Given the description of an element on the screen output the (x, y) to click on. 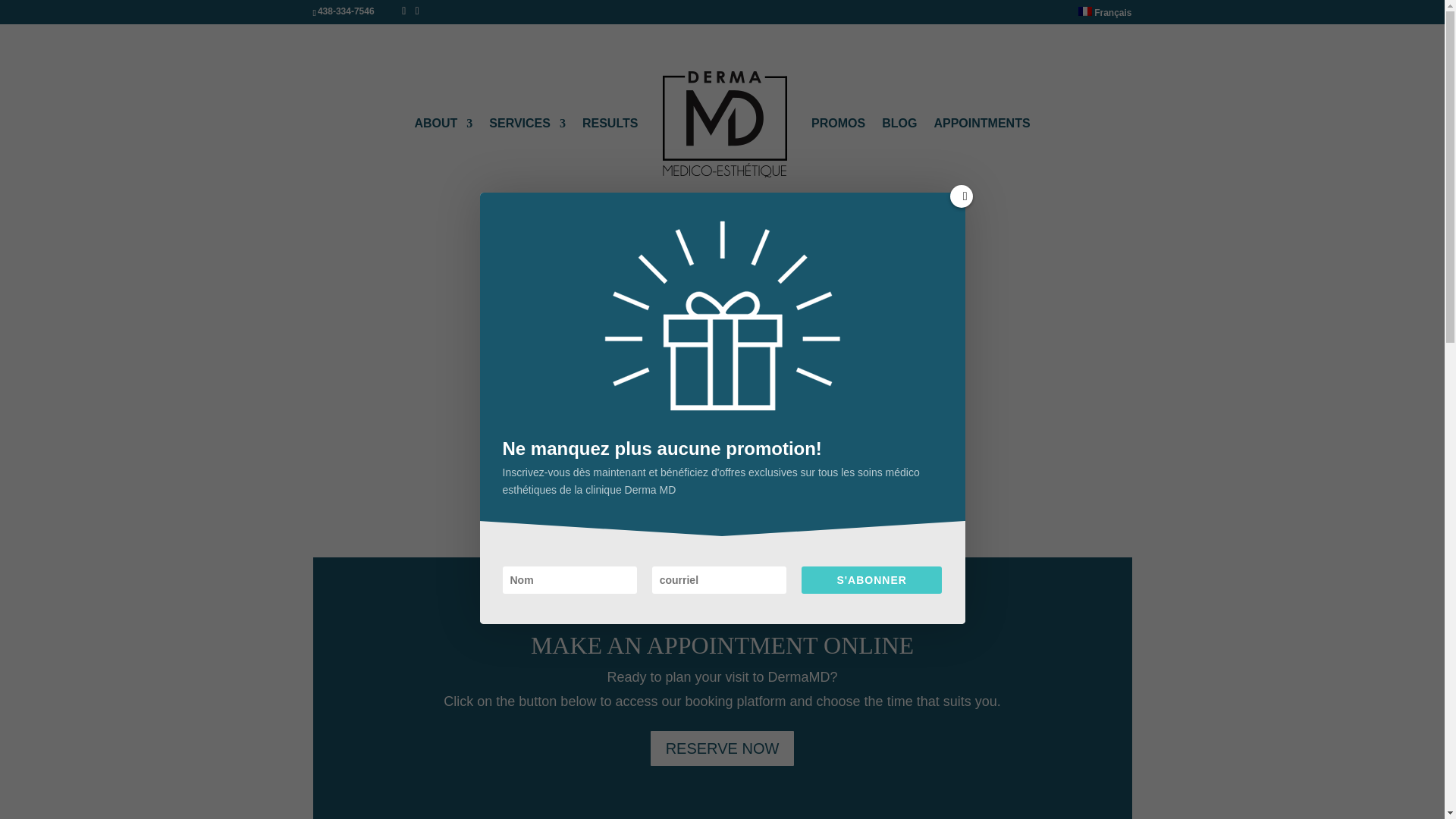
Learn More (722, 351)
SERVICES (527, 157)
APPOINTMENTS (981, 157)
RESERVE NOW (722, 748)
